Given the description of an element on the screen output the (x, y) to click on. 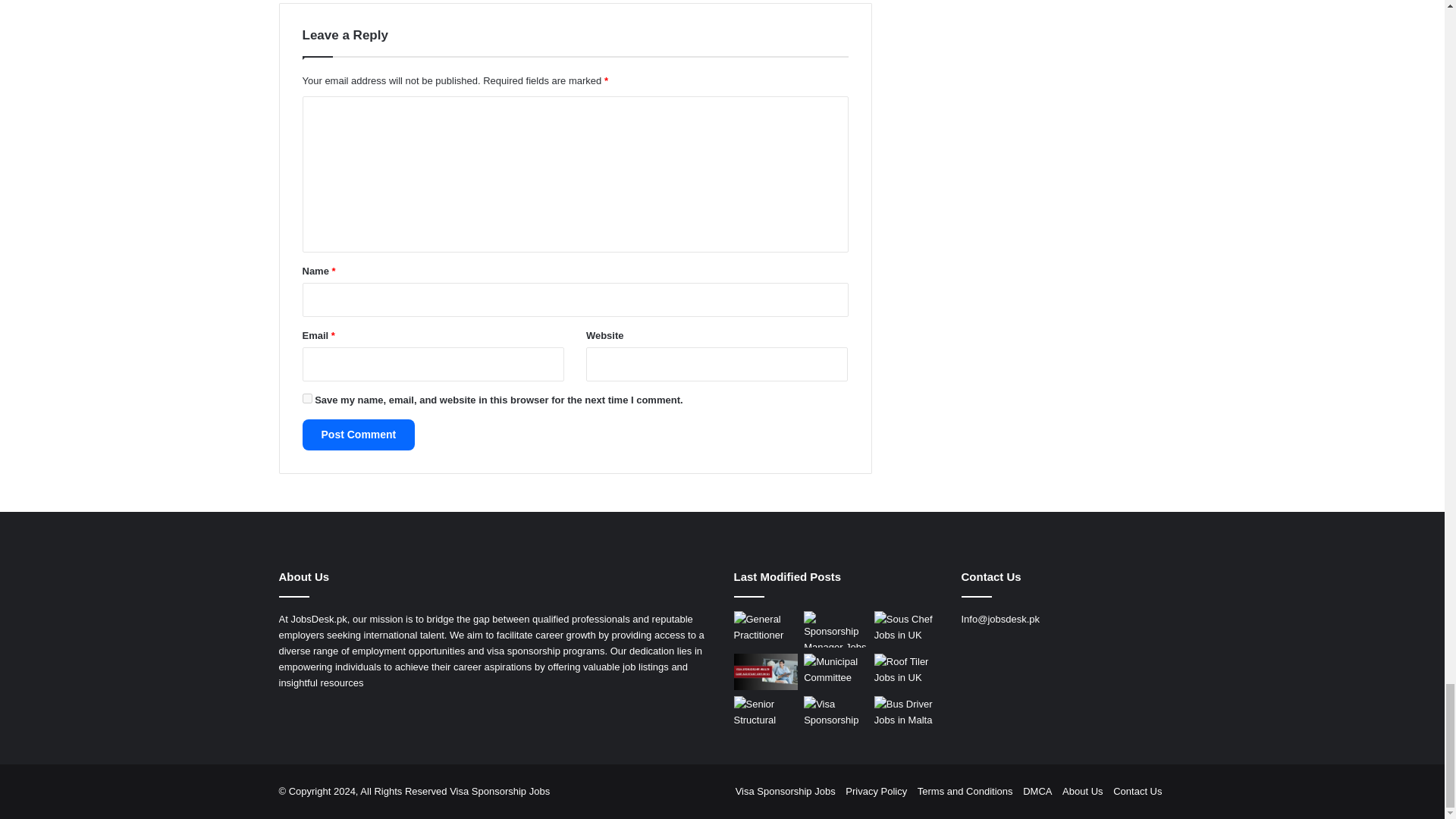
Post Comment (357, 434)
yes (306, 398)
